Given the description of an element on the screen output the (x, y) to click on. 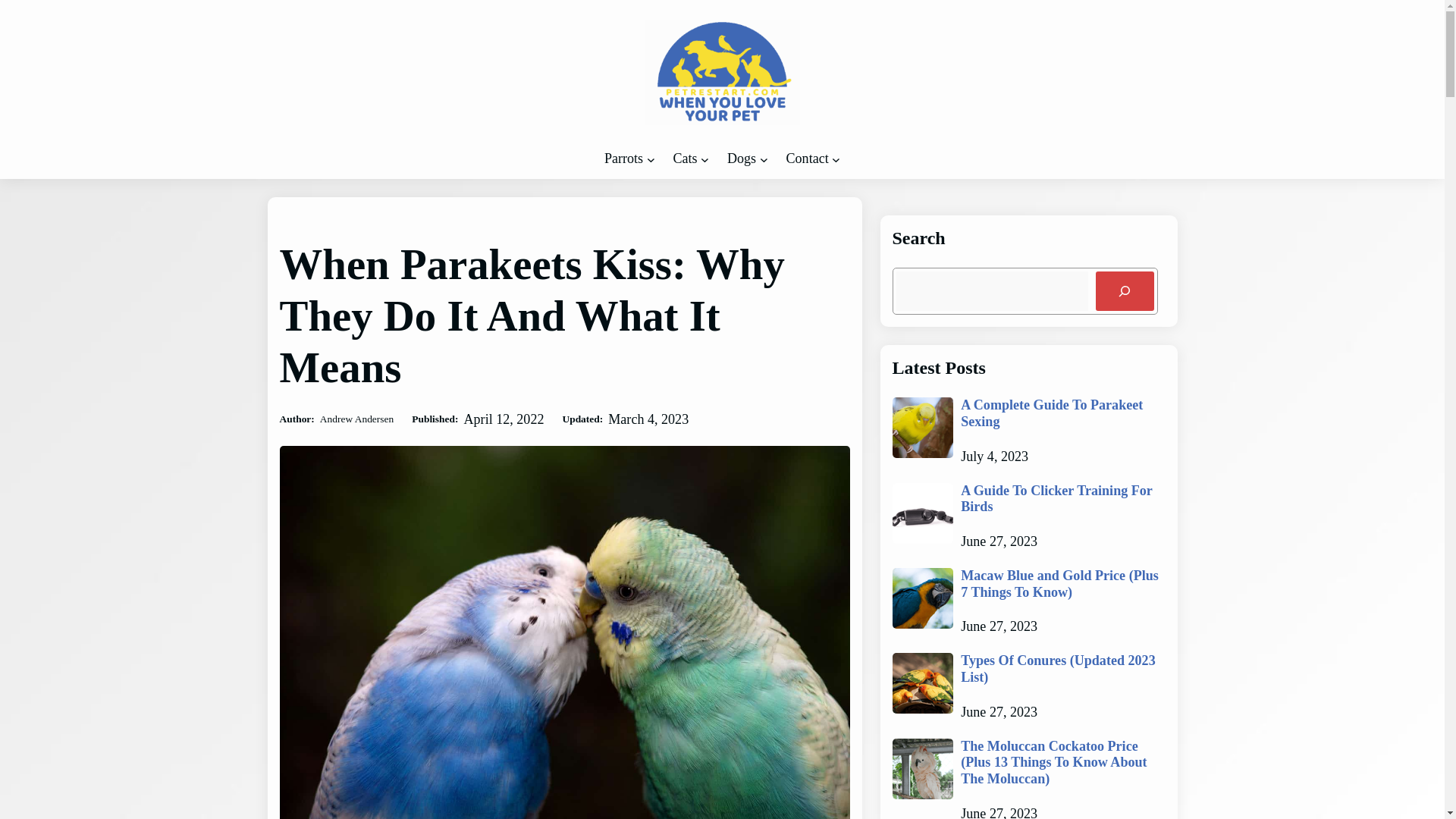
Cats (684, 158)
Contact (807, 158)
Parrots (623, 158)
Dogs (740, 158)
